Given the description of an element on the screen output the (x, y) to click on. 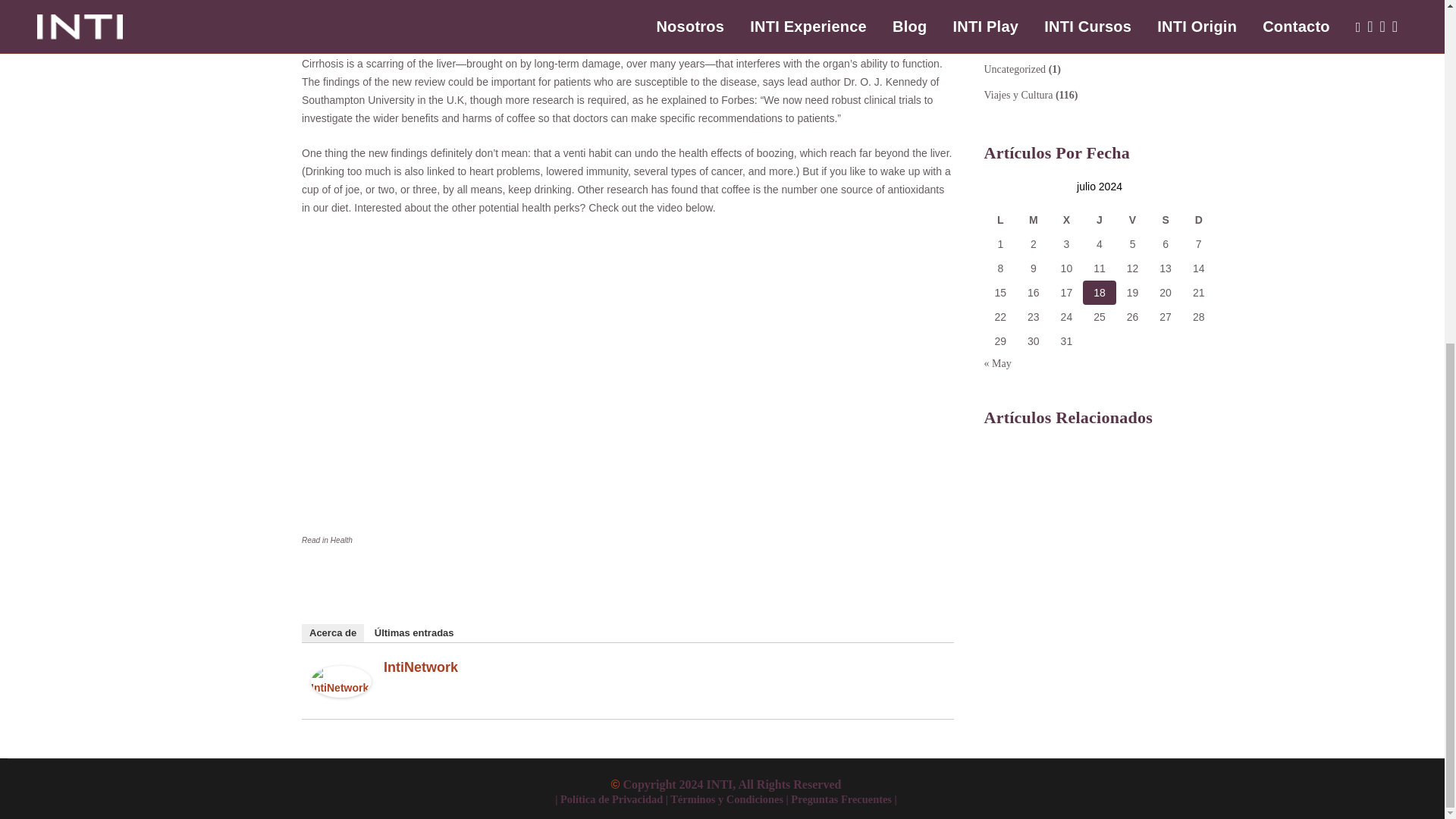
domingo (1198, 219)
IntiNetwork (341, 693)
martes (1032, 219)
jueves (1099, 219)
lunes (1000, 219)
viernes (1133, 219)
